Given the description of an element on the screen output the (x, y) to click on. 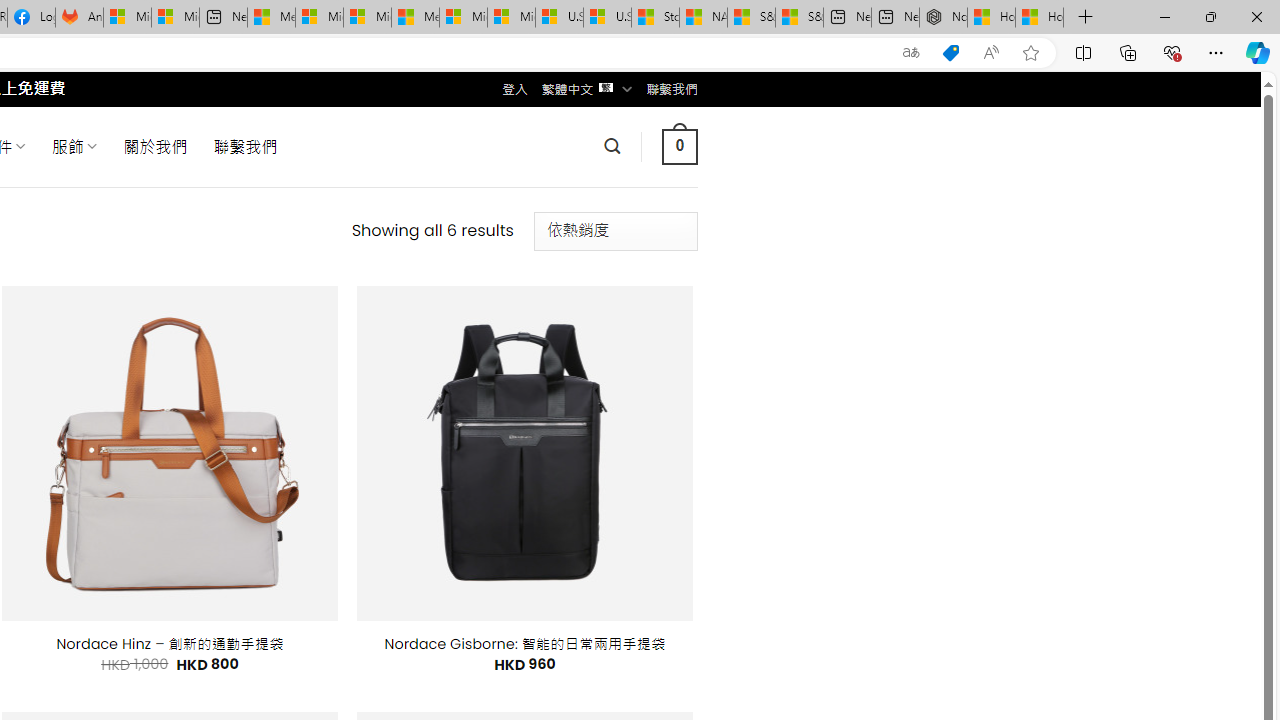
Microsoft account | Privacy (319, 17)
How to Use a Monitor With Your Closed Laptop (1039, 17)
This site has coupons! Shopping in Microsoft Edge (950, 53)
